Given the description of an element on the screen output the (x, y) to click on. 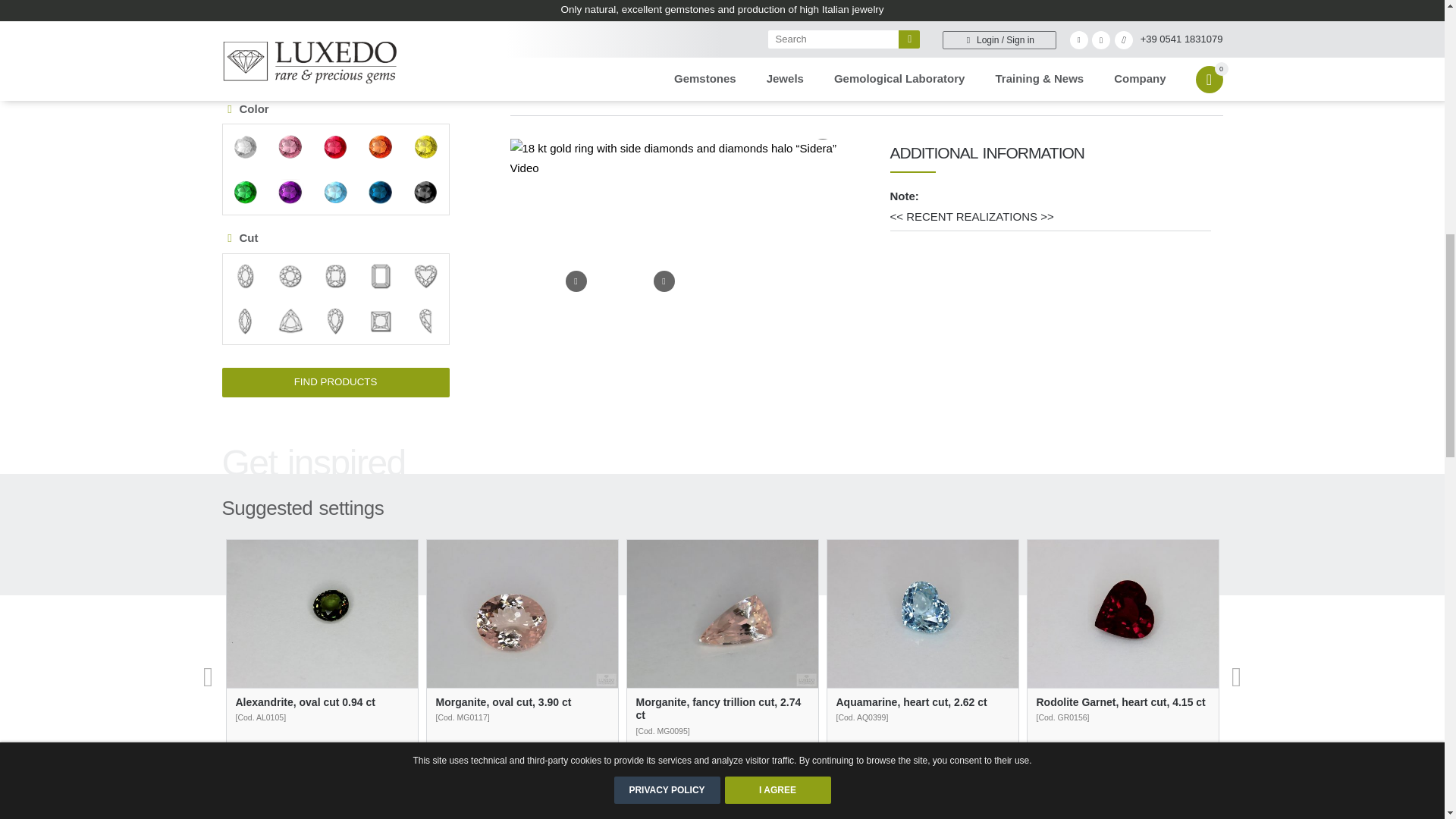
Heart (425, 276)
Marquise (245, 321)
Light Blue (335, 192)
Purple (290, 192)
Pink (290, 146)
Red (335, 146)
Green (245, 192)
FIND PRODUCTS (334, 382)
Yellow (425, 146)
Cushion (335, 276)
